Given the description of an element on the screen output the (x, y) to click on. 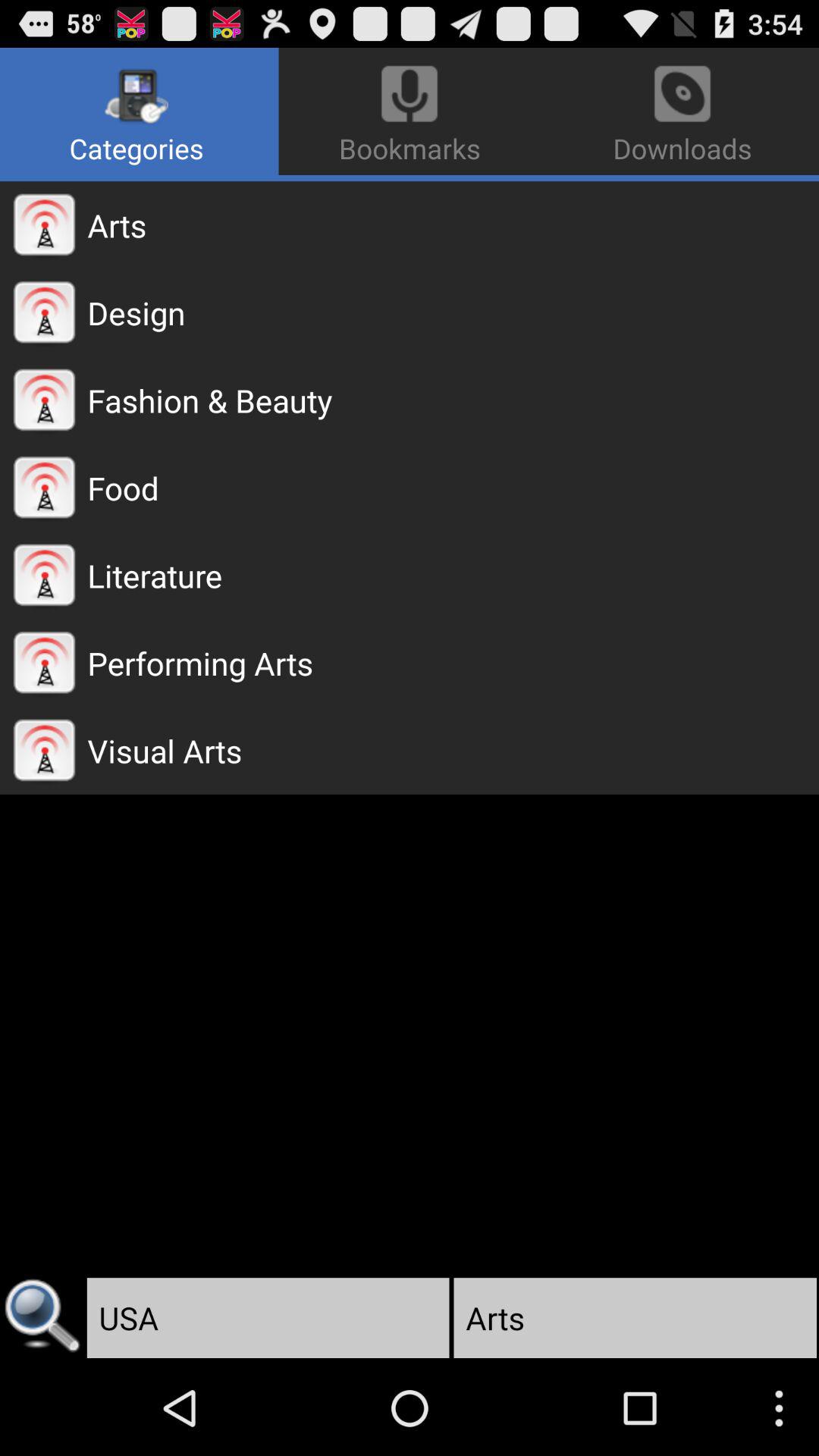
press the icon to the left of the downloads app (139, 111)
